Given the description of an element on the screen output the (x, y) to click on. 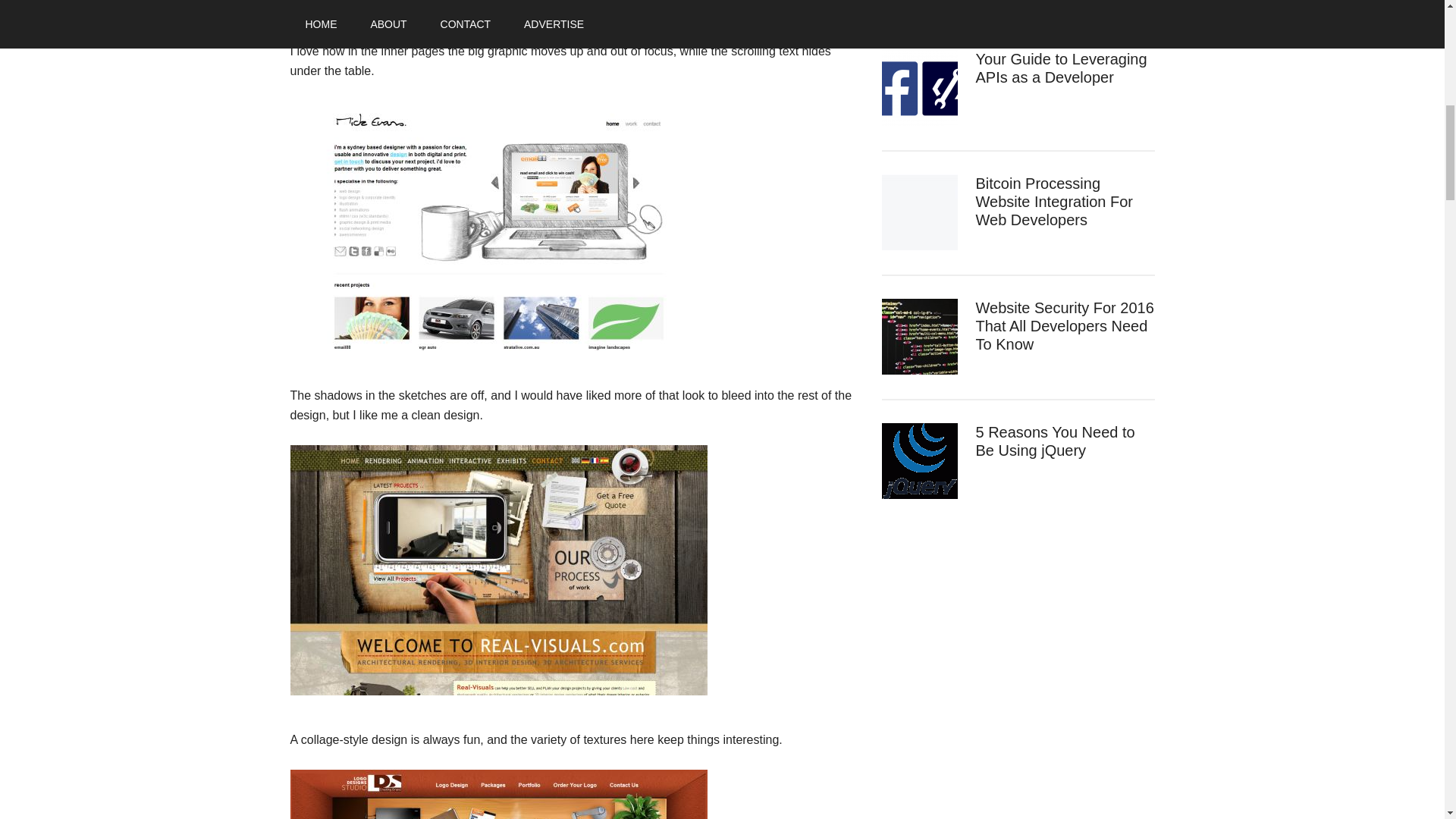
Real-Visuals (497, 570)
Logo Designs Studio (497, 794)
Mick Evans (497, 225)
Marc Mendell (497, 3)
